Given the description of an element on the screen output the (x, y) to click on. 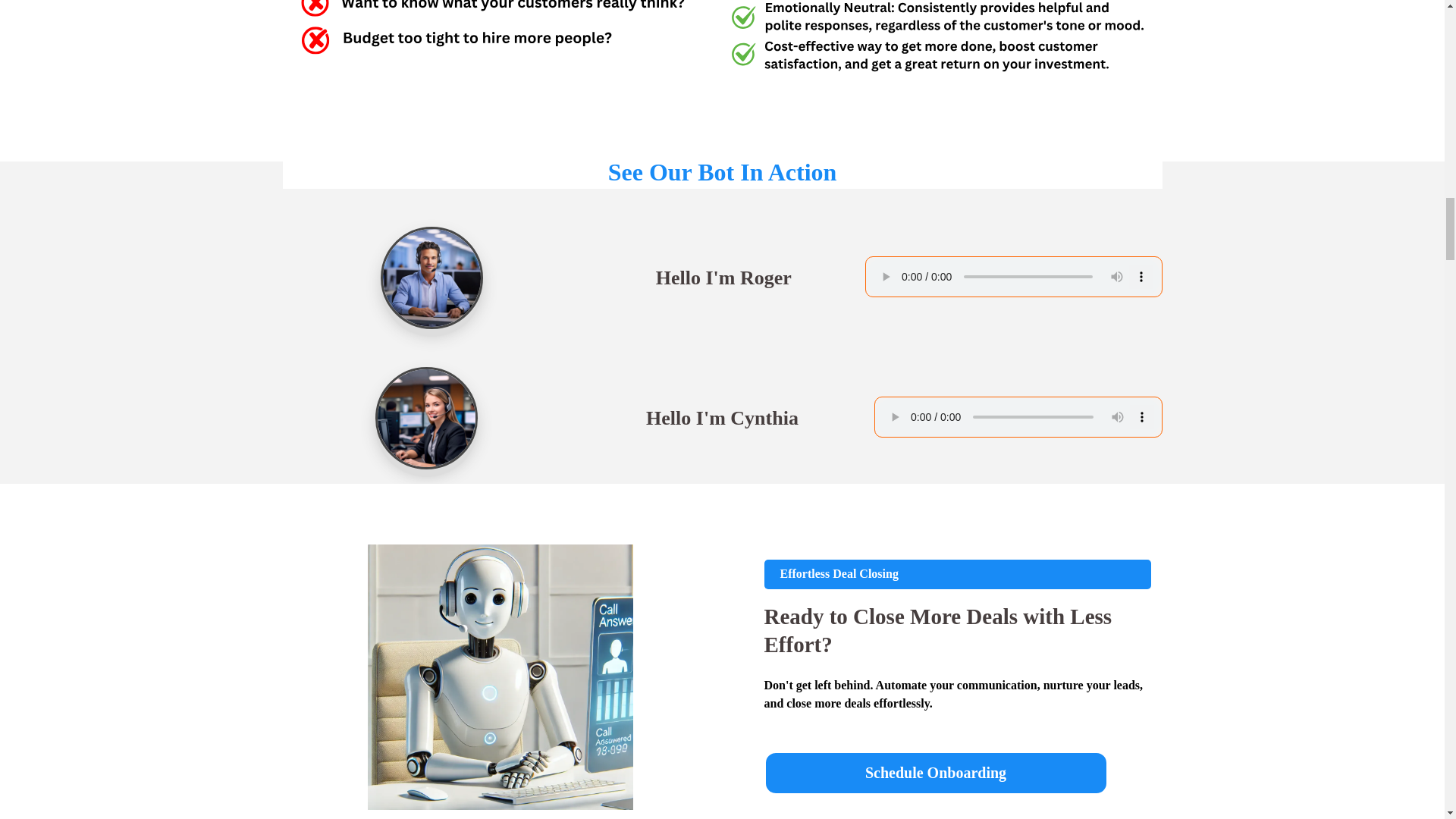
Schedule Onboarding (936, 772)
